Given the description of an element on the screen output the (x, y) to click on. 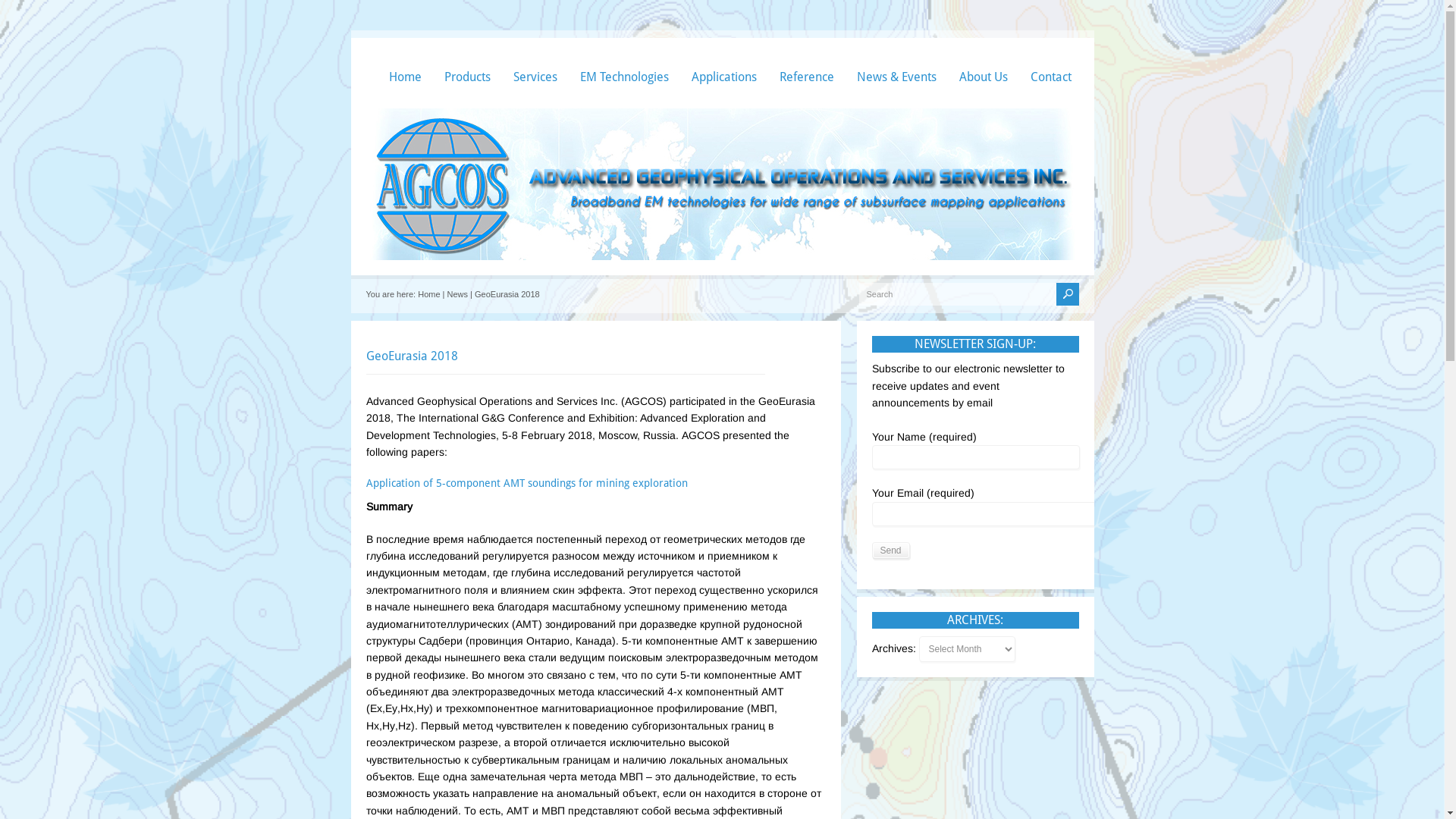
Products Element type: text (467, 60)
GeoEurasia 2018 Element type: text (411, 355)
Contact Element type: text (1050, 60)
News & Events Element type: text (896, 60)
Home Element type: text (428, 293)
Home Element type: text (404, 60)
Reference Element type: text (806, 60)
Applications Element type: text (724, 60)
Services Element type: text (534, 60)
About Us Element type: text (982, 60)
EM Technologies Element type: text (623, 60)
News Element type: text (457, 293)
Send Element type: text (891, 550)
